Given the description of an element on the screen output the (x, y) to click on. 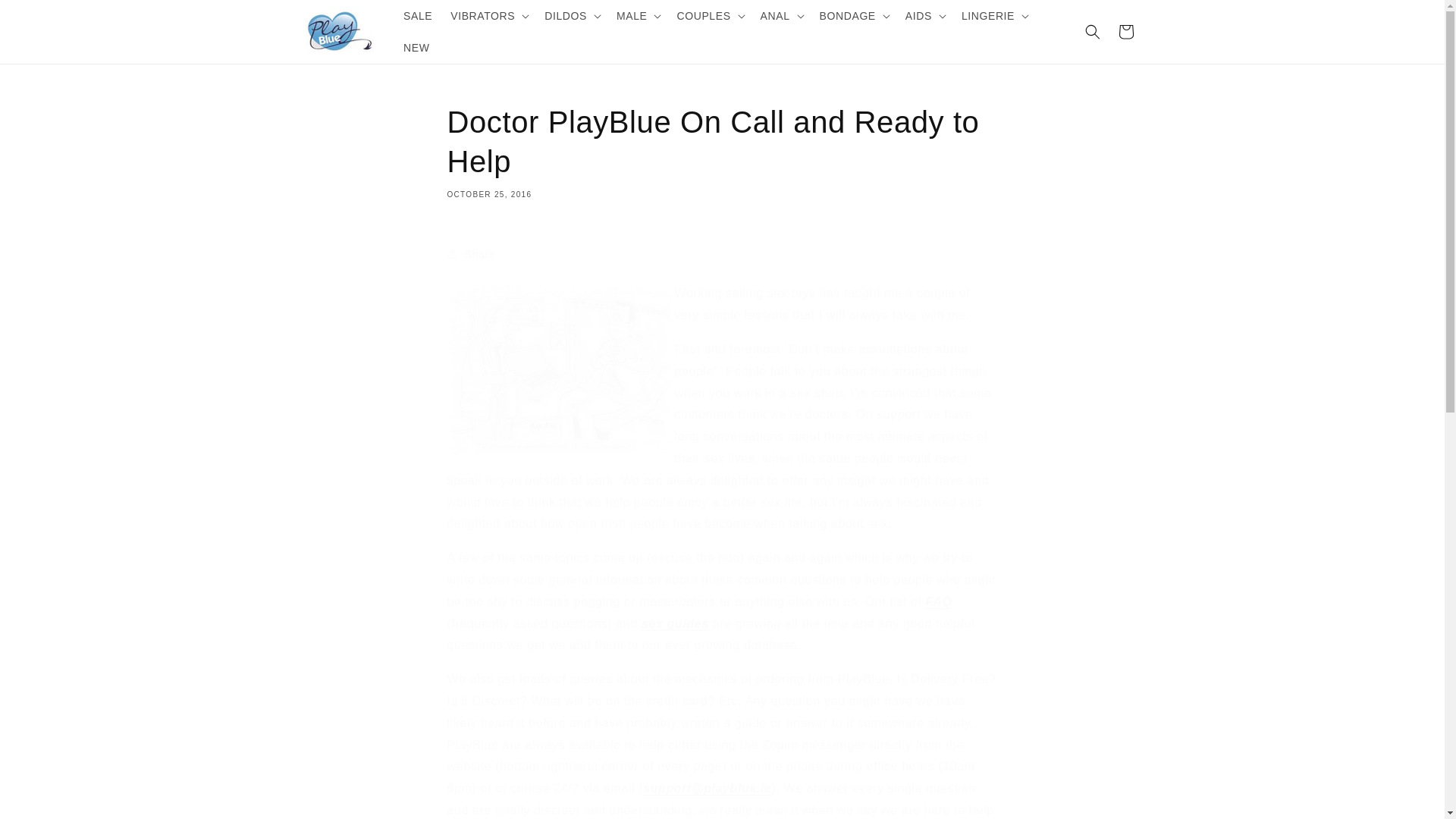
Share (721, 254)
Skip to content (45, 17)
